Given the description of an element on the screen output the (x, y) to click on. 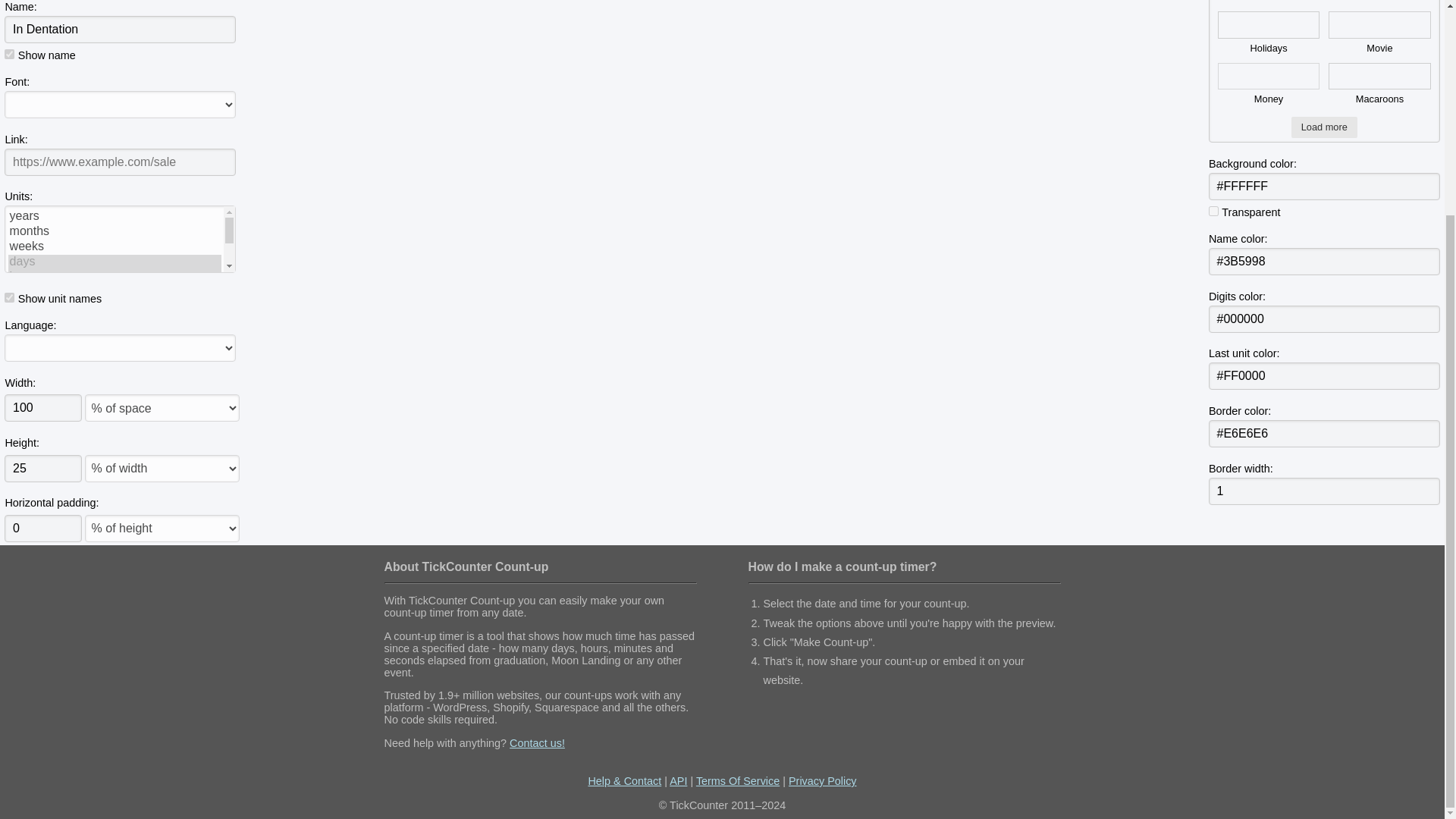
0 (42, 528)
100 (42, 407)
1 (1323, 491)
on (9, 53)
Load more (1323, 127)
on (9, 297)
on (1213, 211)
In Dentation (119, 29)
25 (42, 468)
